Given the description of an element on the screen output the (x, y) to click on. 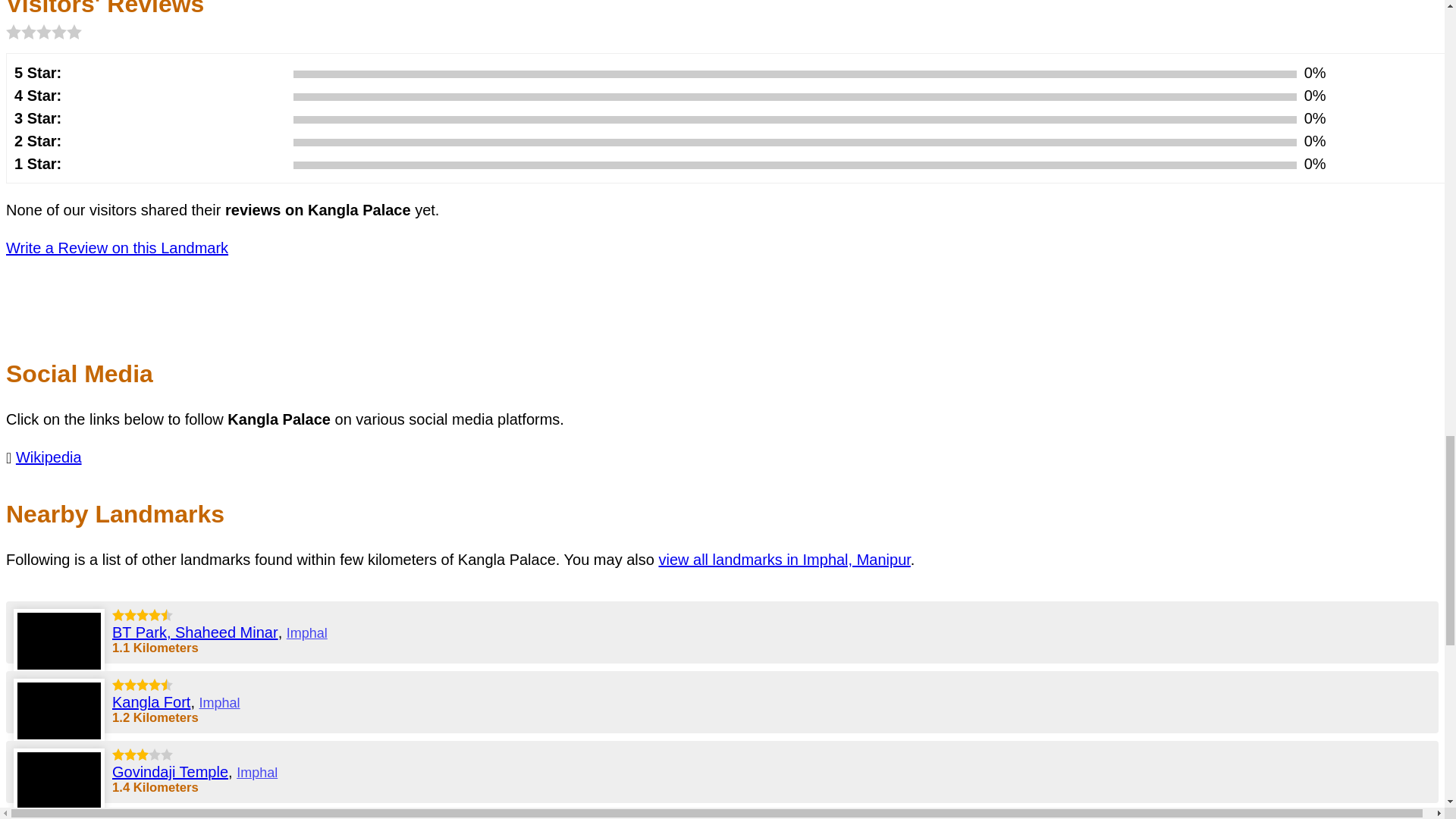
BT Park, Shaheed Minar (195, 632)
view all landmarks in Imphal, Manipur (784, 559)
Imphal (219, 702)
Imphal (306, 632)
Wikipedia (48, 457)
Kangla Fort (151, 701)
